Given the description of an element on the screen output the (x, y) to click on. 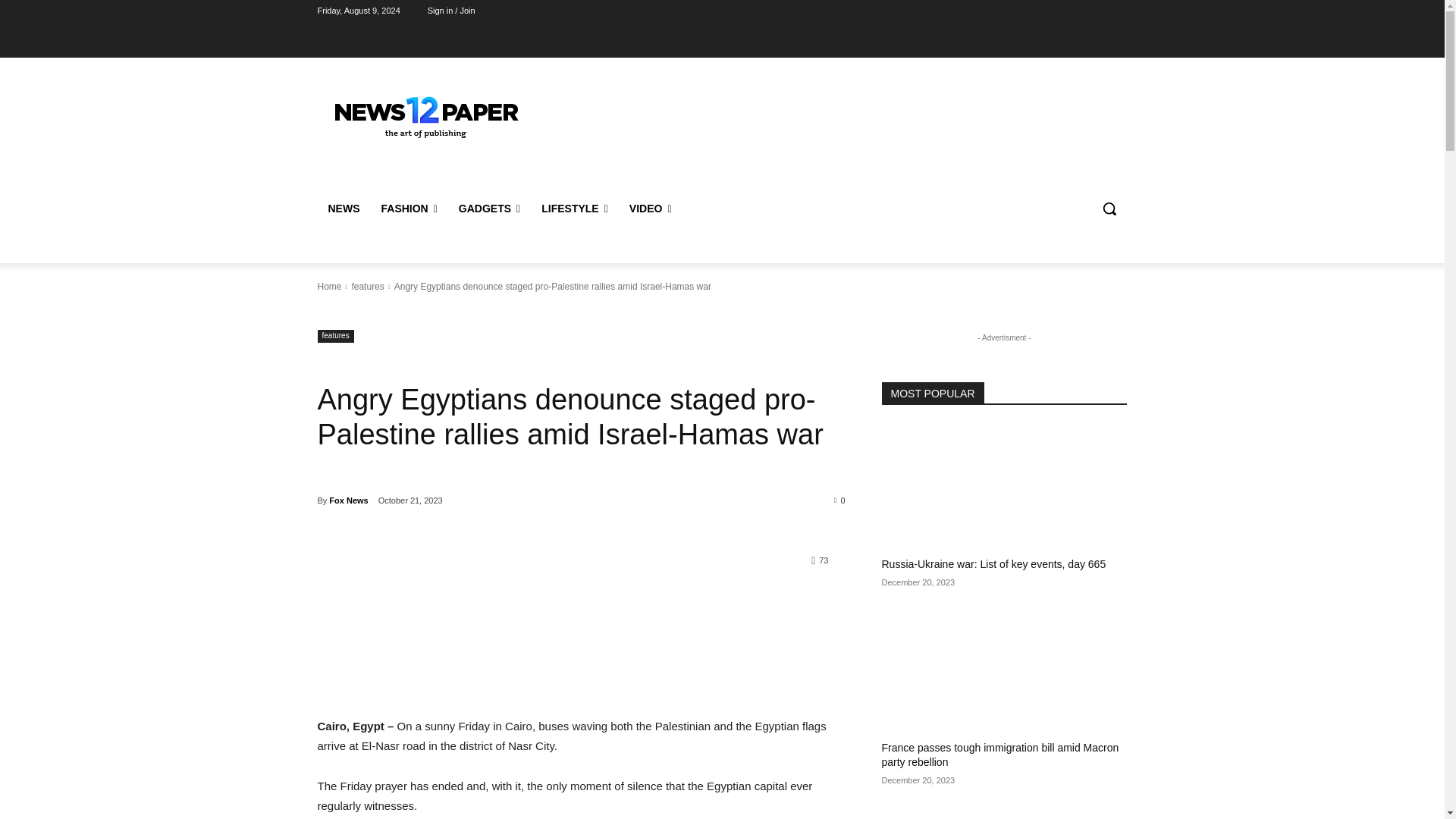
NEWS (343, 208)
FASHION (407, 208)
GADGETS (489, 208)
